Given the description of an element on the screen output the (x, y) to click on. 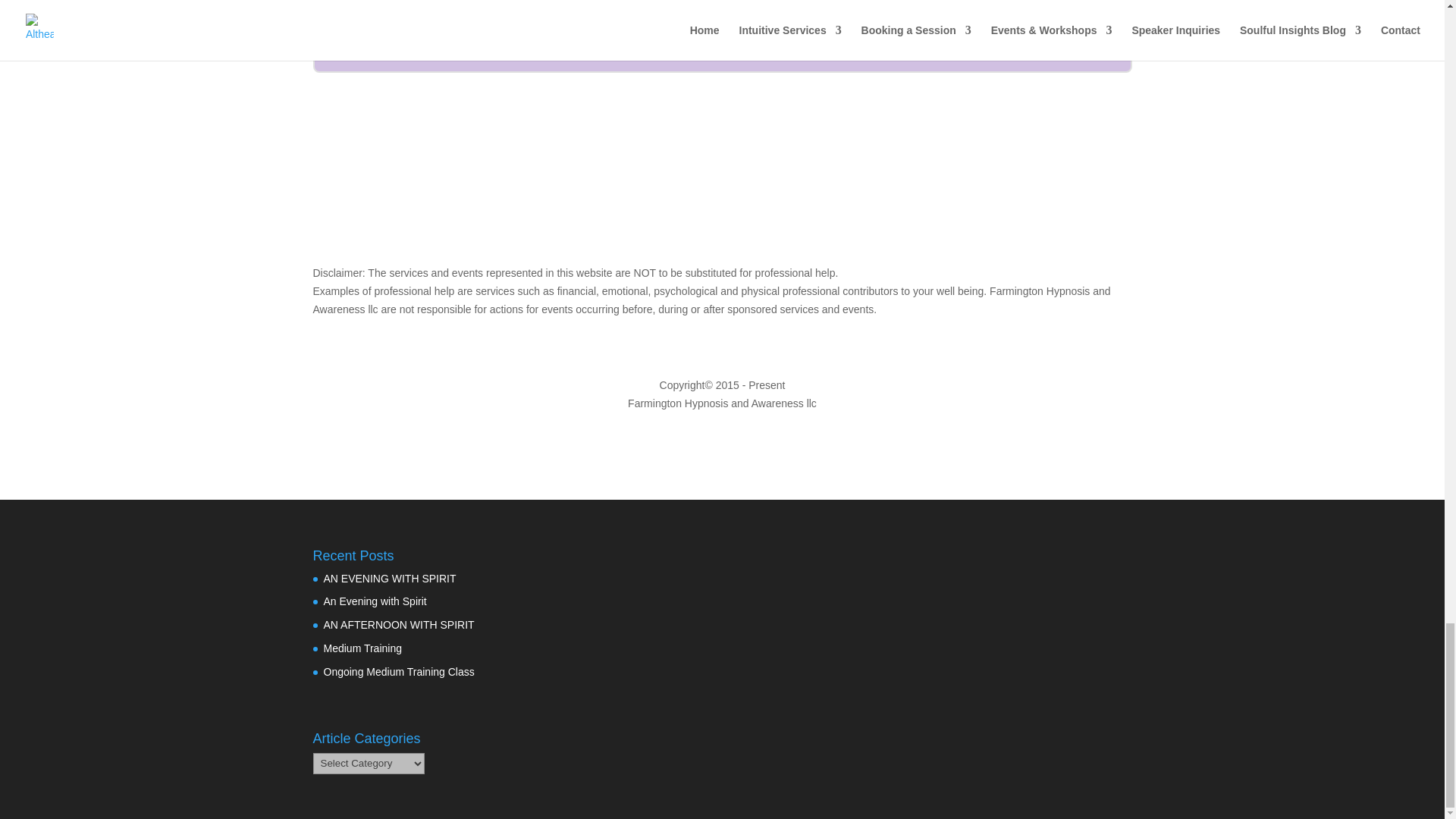
Let's Connect! (1028, 4)
on (552, 23)
Let's Connect! (1028, 4)
more information (861, 25)
AN EVENING WITH SPIRIT (389, 577)
